Given the description of an element on the screen output the (x, y) to click on. 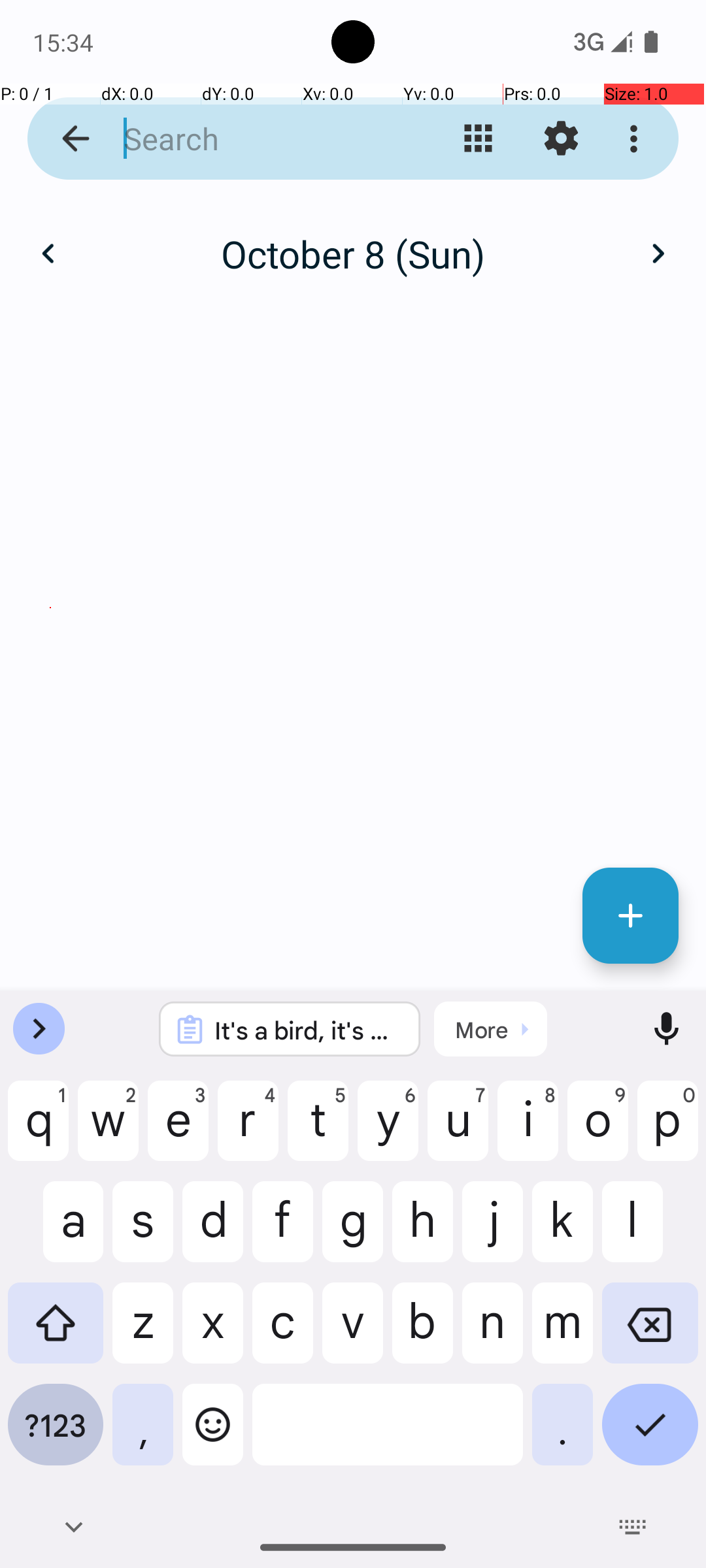
October 8 (Sun) Element type: android.widget.TextView (352, 253)
It's a bird, it's a plane. Element type: android.widget.TextView (306, 1029)
